Given the description of an element on the screen output the (x, y) to click on. 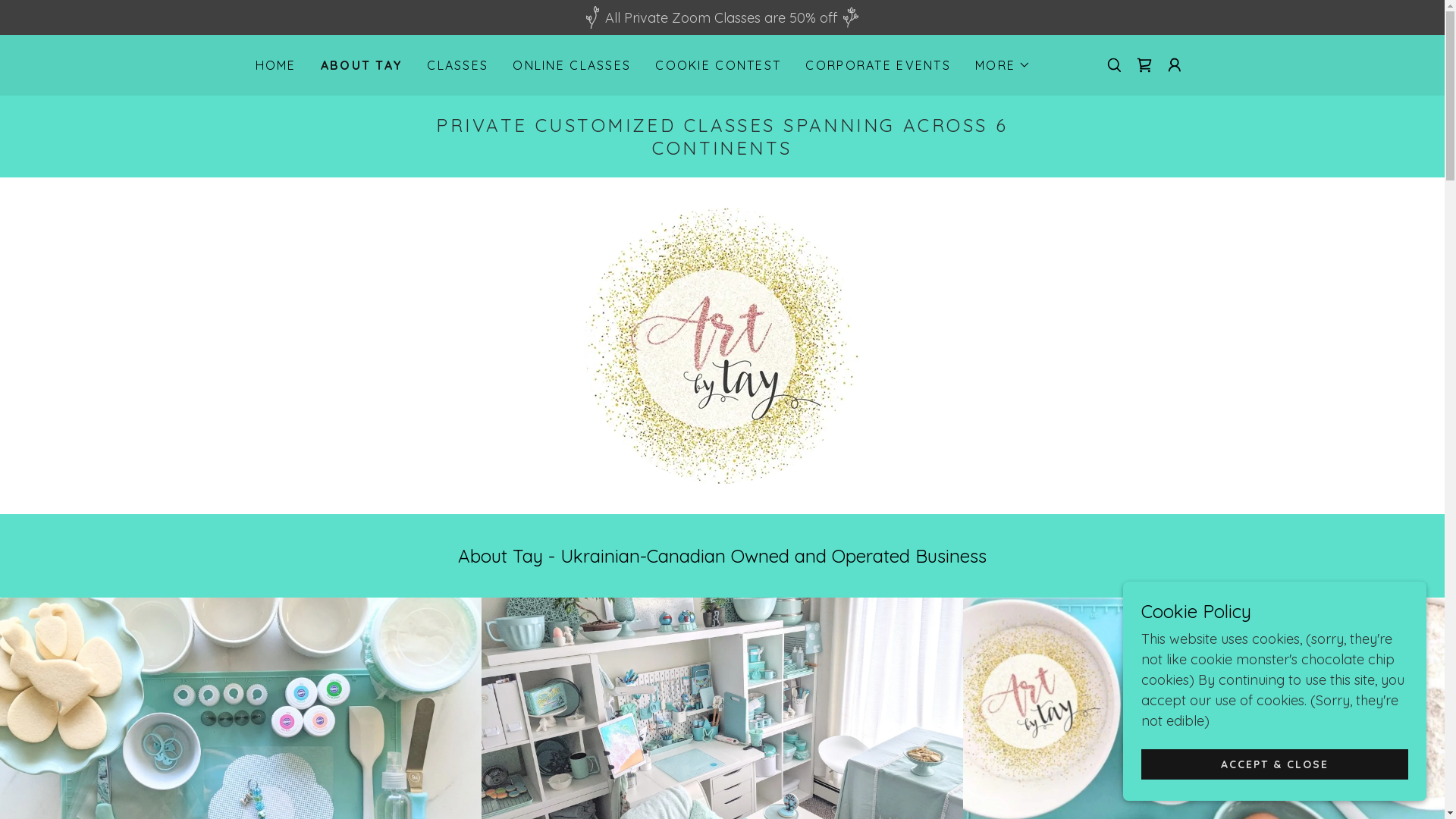
COOKIE CONTEST Element type: text (717, 64)
ACCEPT & CLOSE Element type: text (1274, 764)
ONLINE CLASSES Element type: text (571, 64)
ABOUT TAY Element type: text (361, 65)
All Private Zoom Classes are 50% off Element type: text (722, 17)
MORE Element type: text (1002, 65)
CORPORATE EVENTS Element type: text (877, 64)
CLASSES Element type: text (457, 64)
HOME Element type: text (275, 64)
